Given the description of an element on the screen output the (x, y) to click on. 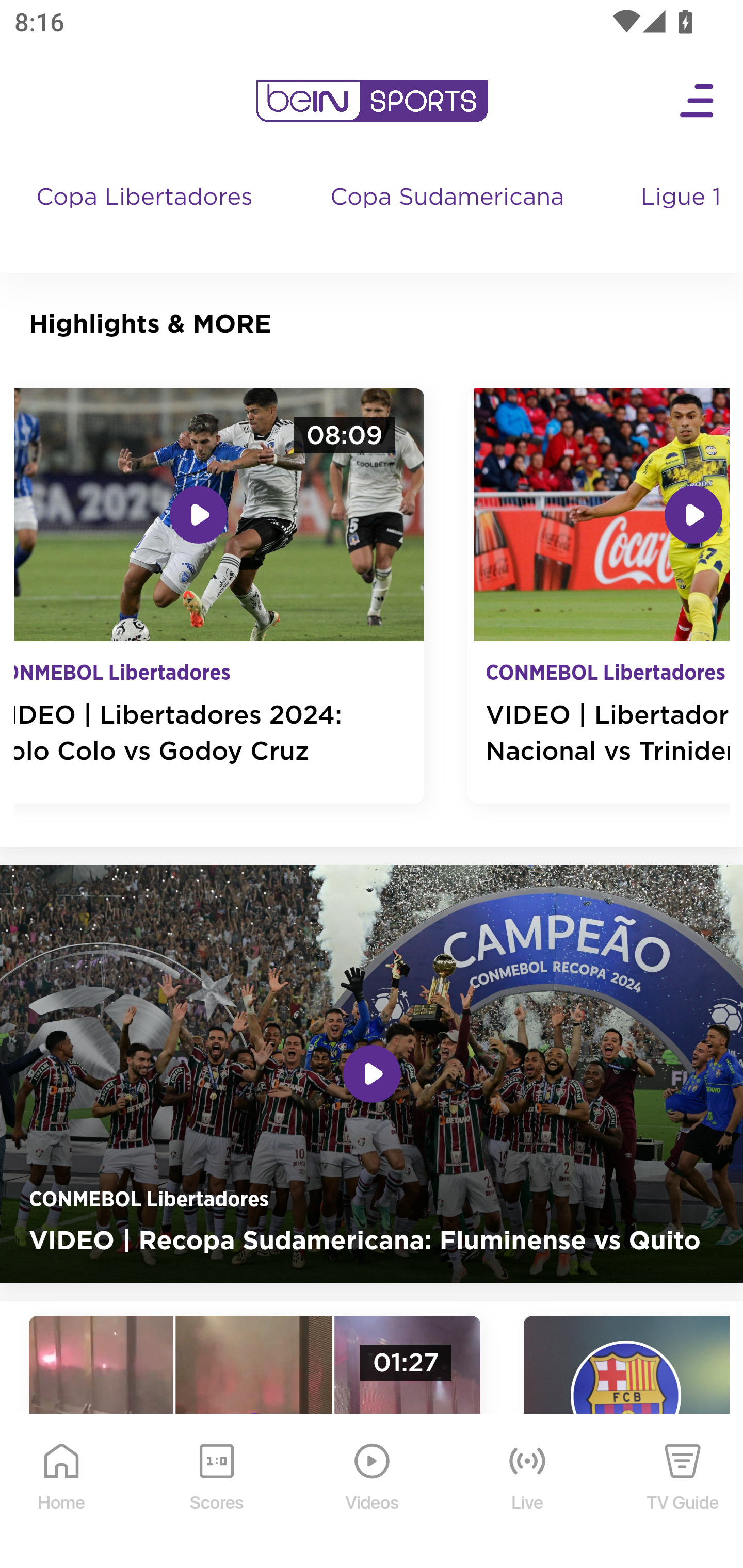
en-us?platform=mobile_android bein logo (371, 101)
Open Menu Icon (697, 101)
Copa Libertadores (146, 216)
Copa Sudamericana (448, 216)
Ligue 1 (682, 216)
Home Home Icon Home (61, 1491)
Scores Scores Icon Scores (216, 1491)
Videos Videos Icon Videos (372, 1491)
TV Guide TV Guide Icon TV Guide (682, 1491)
